Given the description of an element on the screen output the (x, y) to click on. 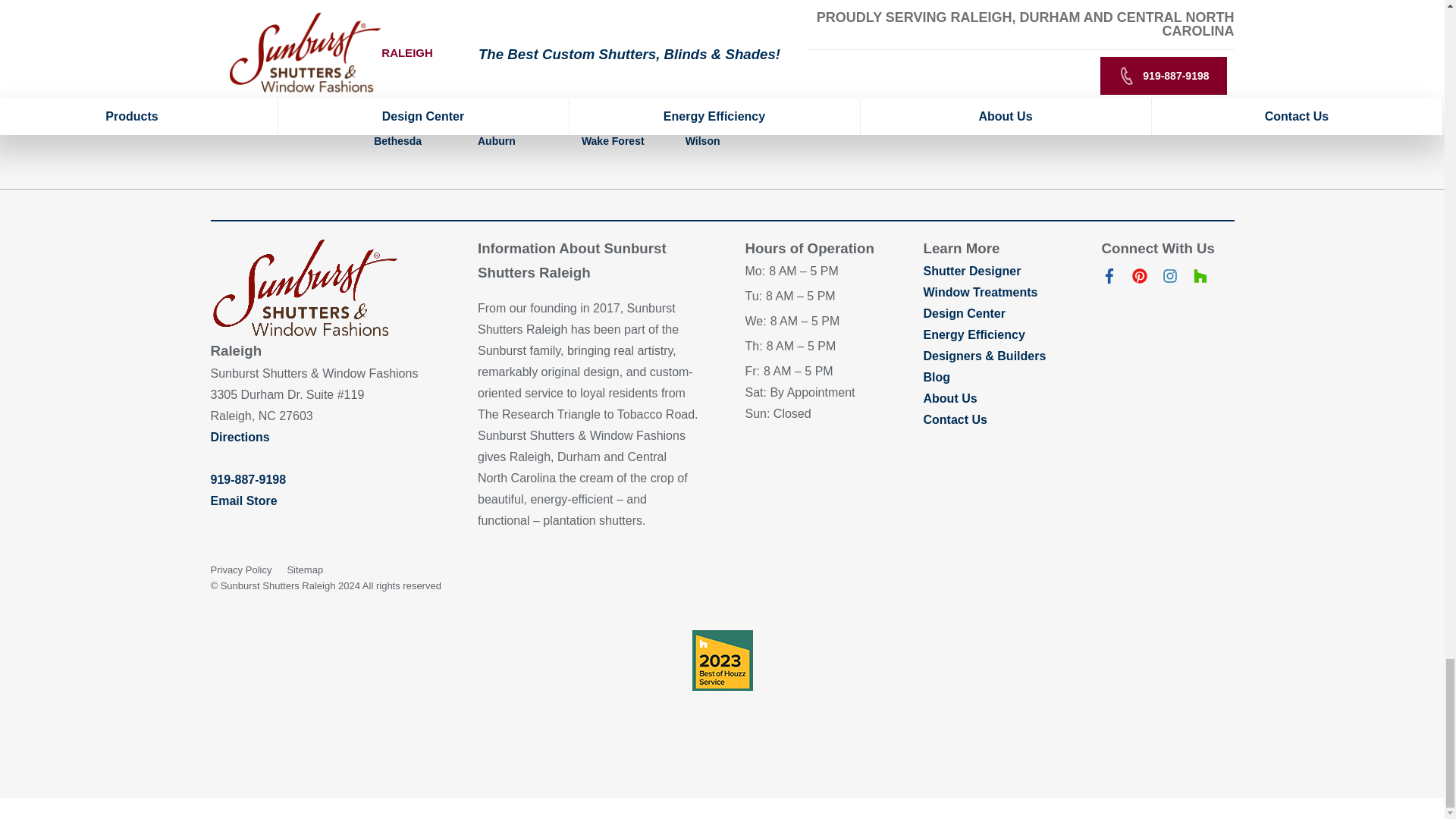
Save us on Houzz (1199, 278)
Follow us on Instagram (1168, 278)
Best Of Houzz 2024 (721, 660)
Follow us on Pinterest (1139, 278)
Like us on Facebook (1108, 278)
